Given the description of an element on the screen output the (x, y) to click on. 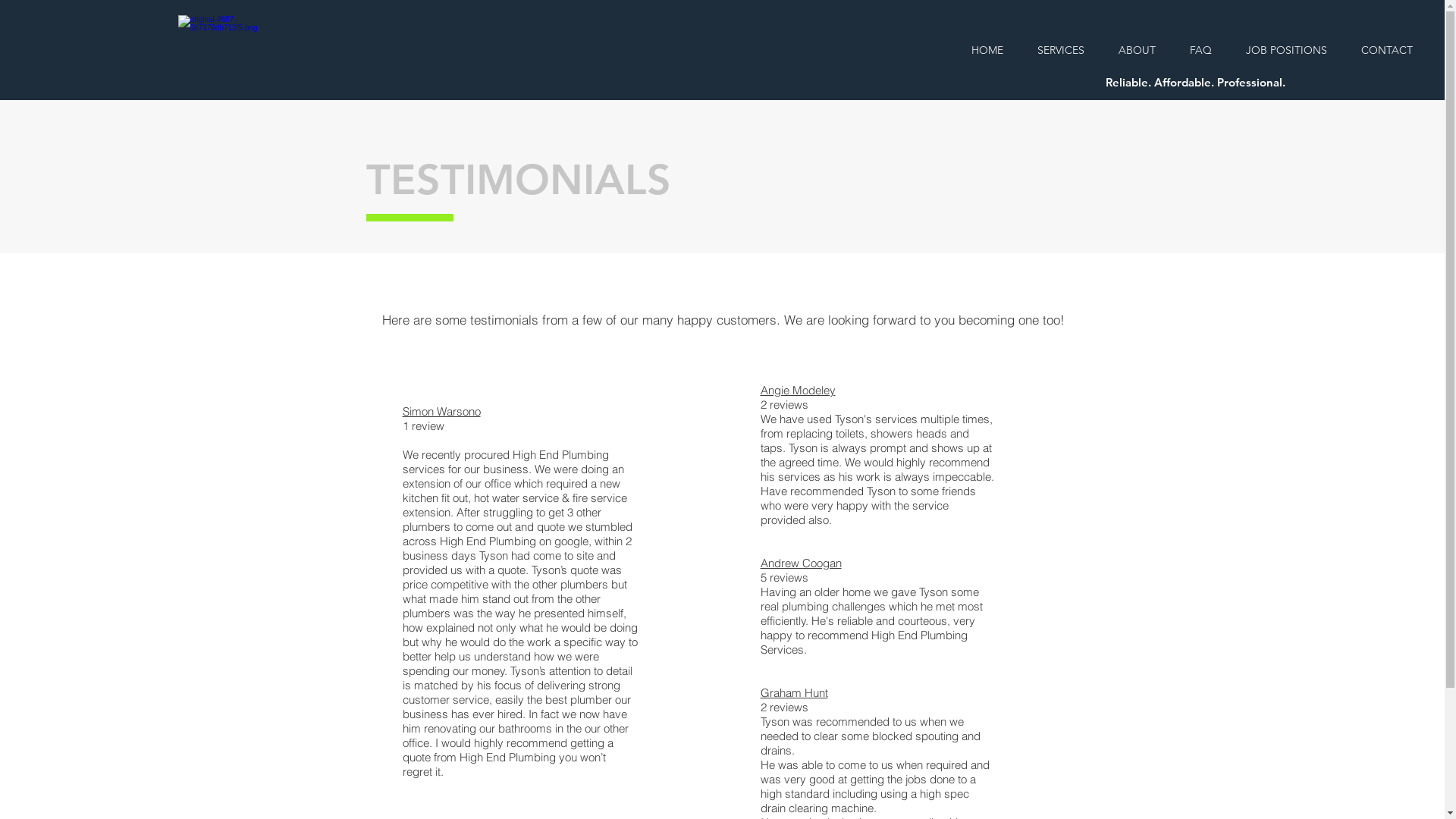
CONTACT Element type: text (1386, 50)
HOME Element type: text (986, 50)
SERVICES Element type: text (1060, 50)
FAQ Element type: text (1200, 50)
JOB POSITIONS Element type: text (1285, 50)
ABOUT Element type: text (1136, 50)
